Given the description of an element on the screen output the (x, y) to click on. 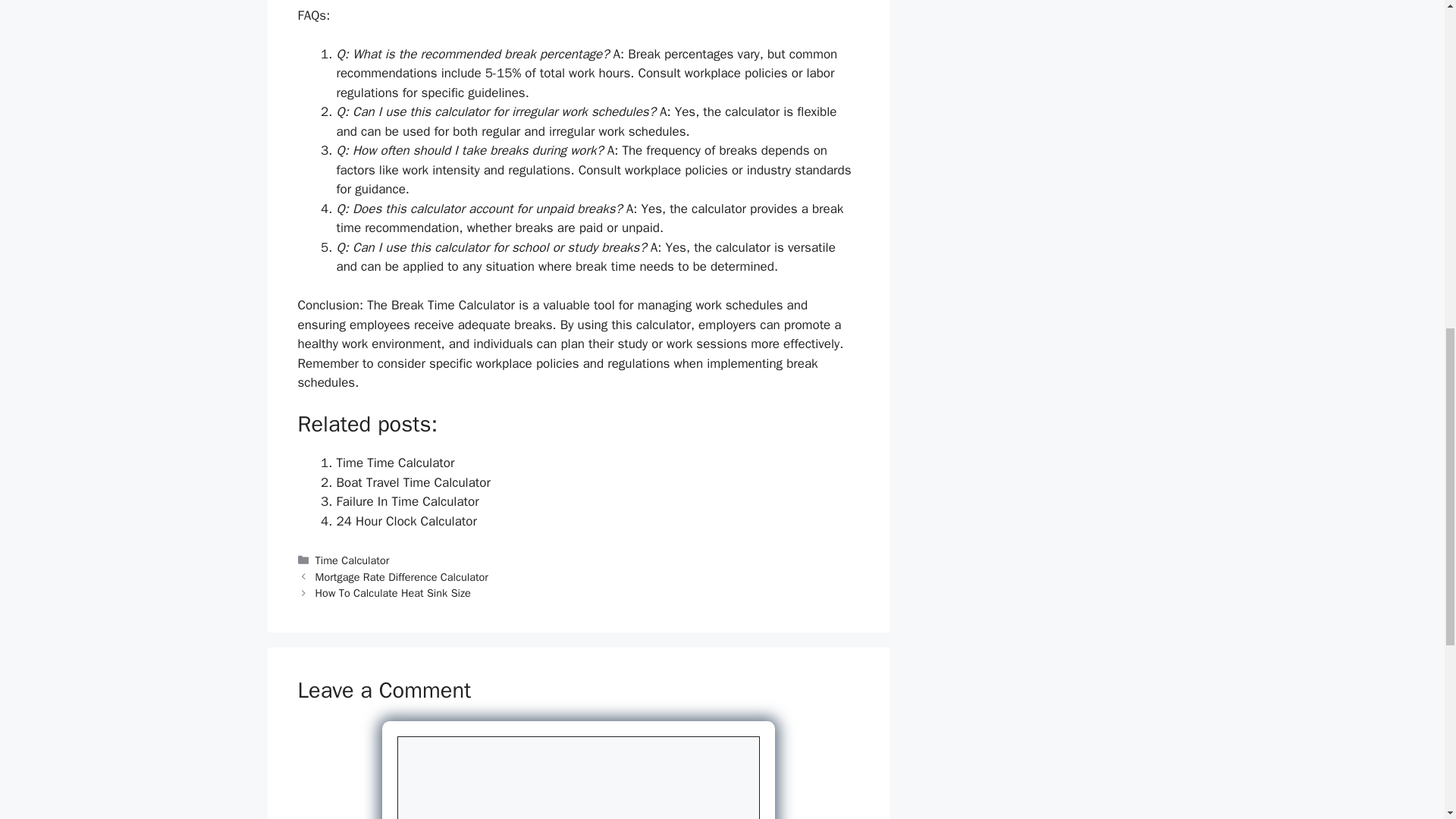
Time Time Calculator (395, 462)
Boat Travel Time Calculator (413, 482)
Time Time Calculator (395, 462)
24 Hour Clock Calculator (406, 521)
Mortgage Rate Difference Calculator (401, 576)
Failure In Time Calculator (407, 501)
24 Hour Clock Calculator (406, 521)
How To Calculate Heat Sink Size (392, 592)
Failure In Time Calculator (407, 501)
Time Calculator (352, 560)
Boat Travel Time Calculator (413, 482)
